Given the description of an element on the screen output the (x, y) to click on. 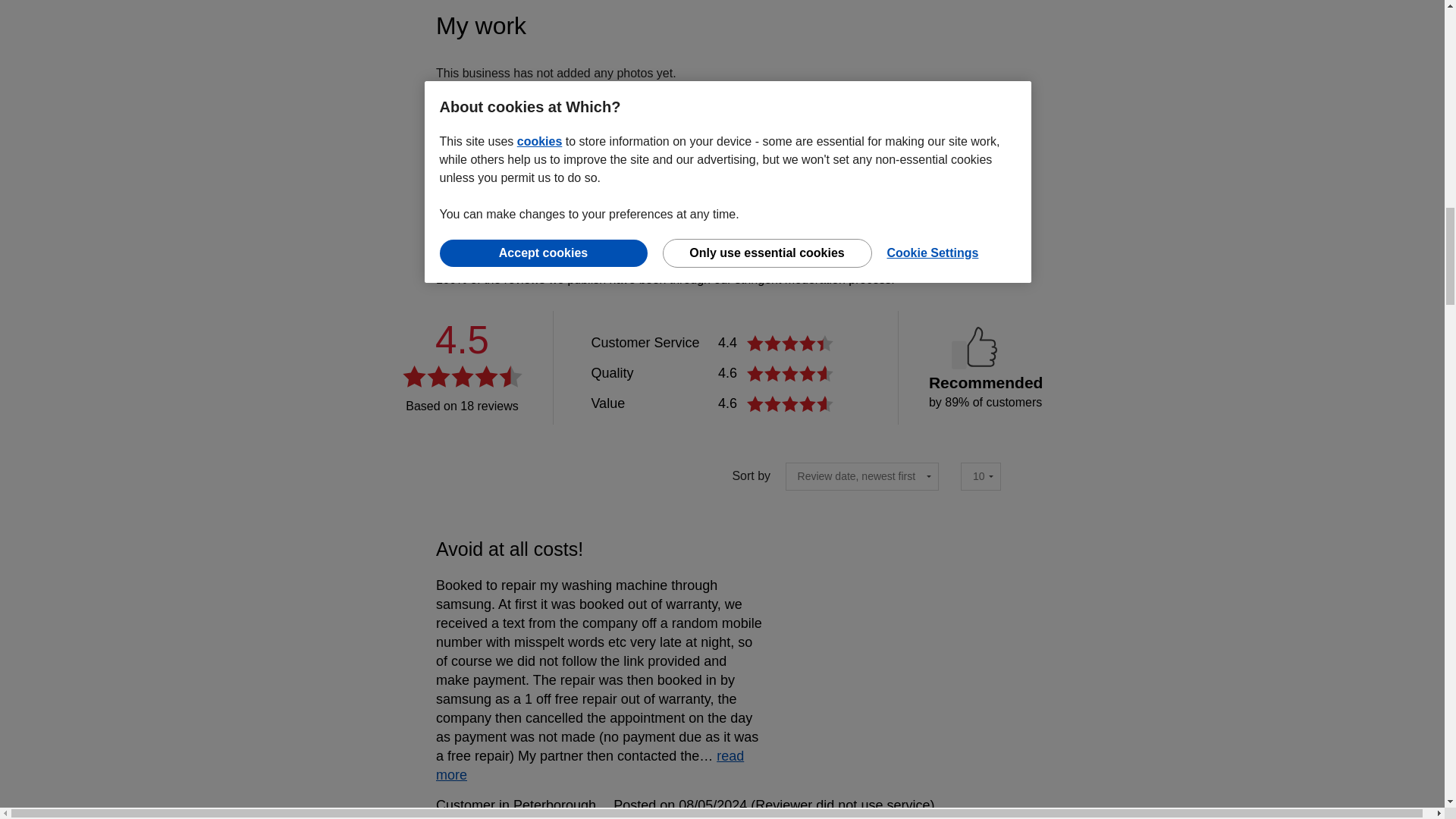
4.555555555555555 (791, 403)
4.555555555555555 (791, 372)
4.388888888888889 (791, 342)
